Given the description of an element on the screen output the (x, y) to click on. 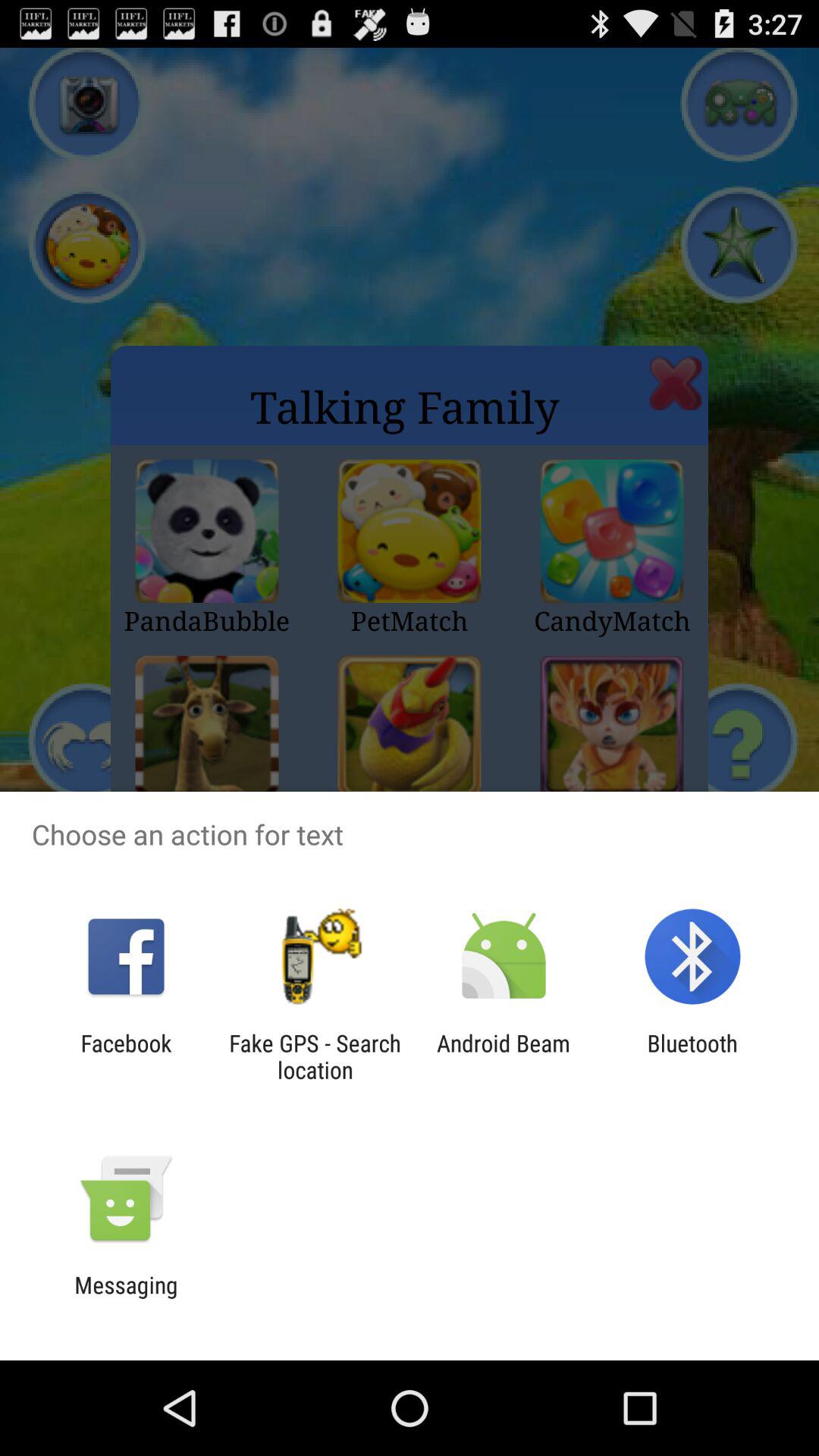
turn on the bluetooth at the bottom right corner (692, 1056)
